Given the description of an element on the screen output the (x, y) to click on. 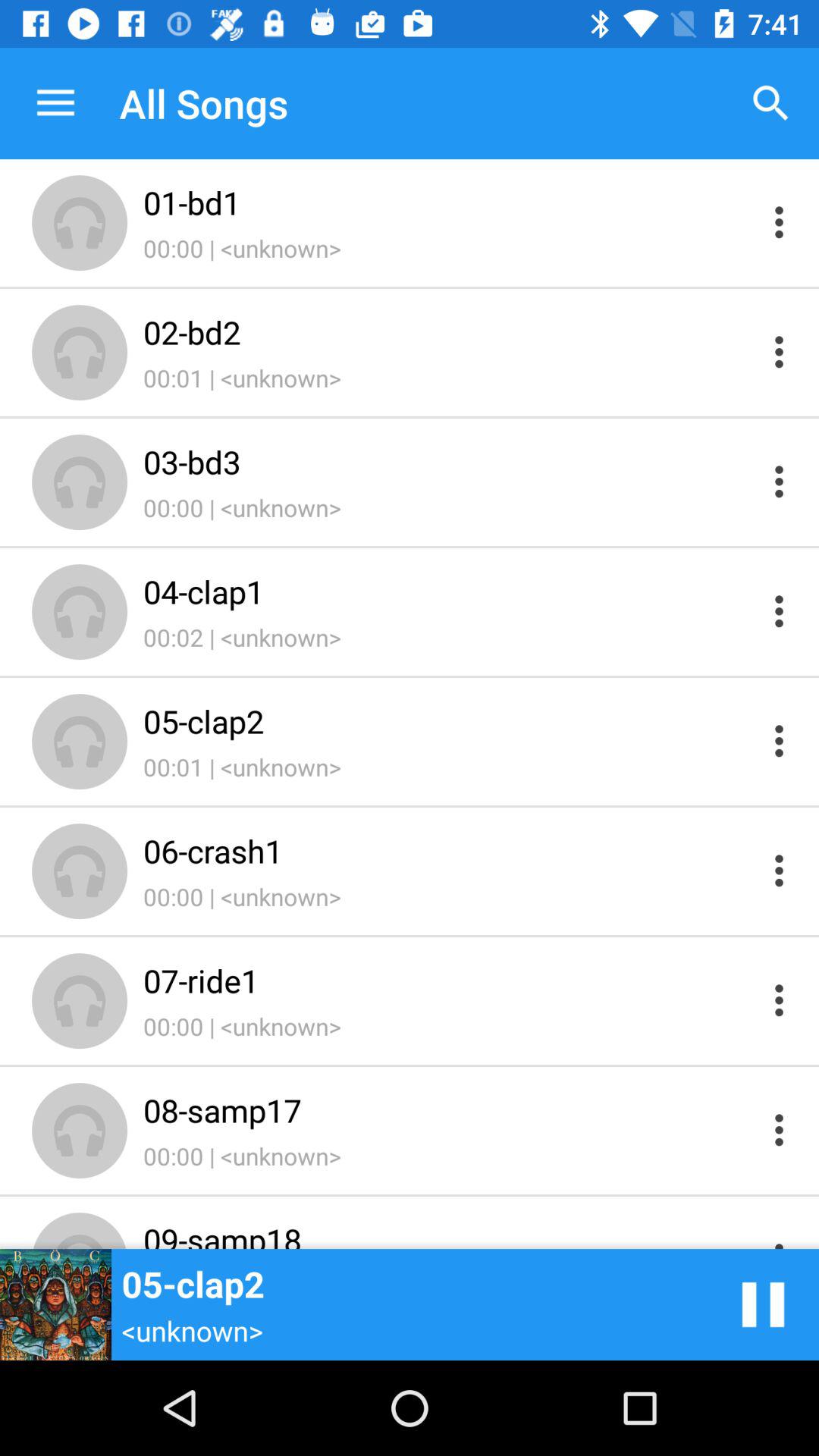
go to options of song (779, 1129)
